Given the description of an element on the screen output the (x, y) to click on. 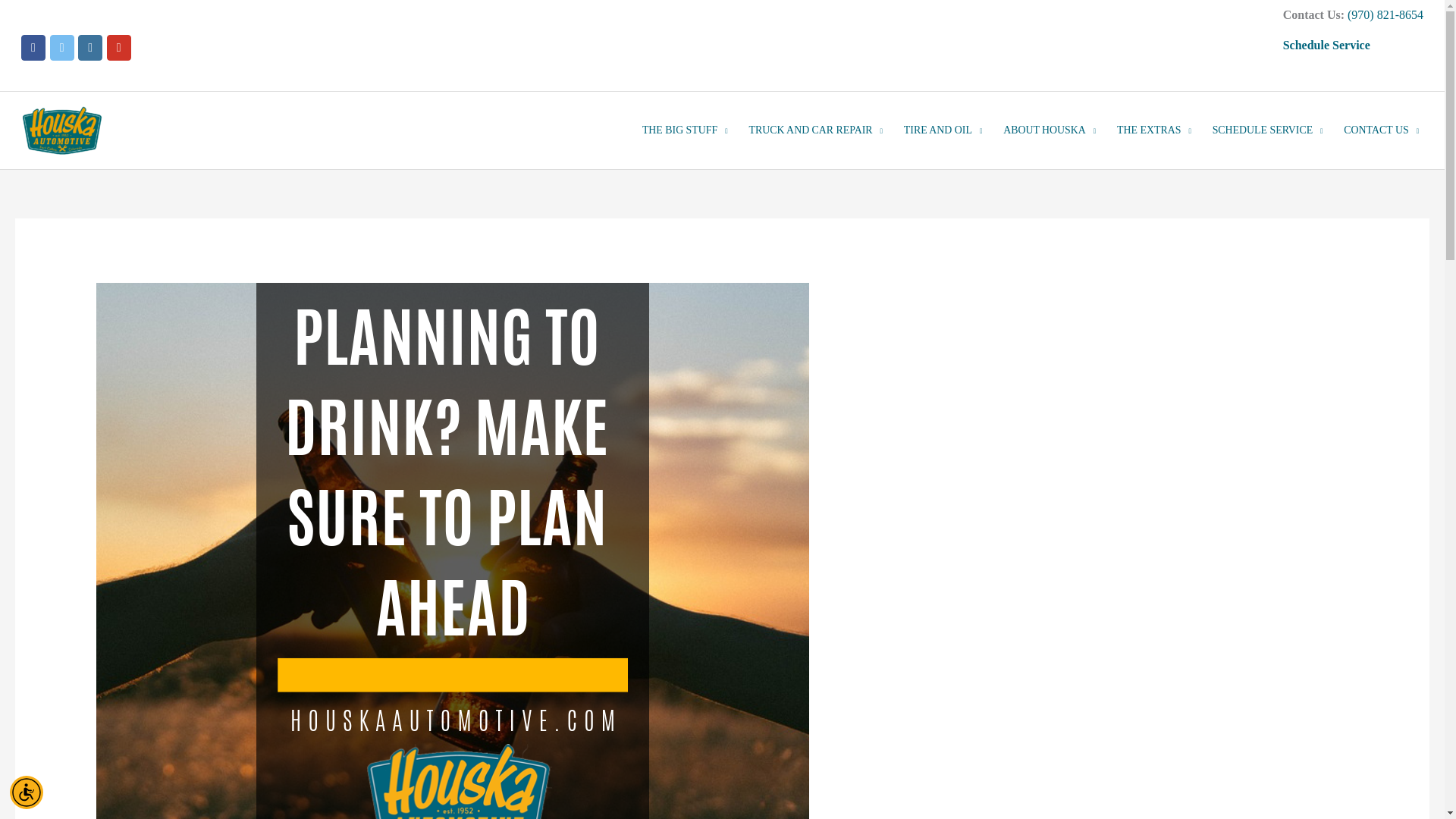
Schedule Service (1326, 44)
Accessibility Menu (26, 792)
Houska Automotive on  (146, 47)
ABOUT HOUSKA (1049, 129)
Houska Automotive on Youtube (118, 47)
Houska Automotive on Instagram (89, 47)
Houska Automotive on Facebook (33, 47)
TRUCK AND CAR REPAIR (815, 129)
Houska Automotive on X Twitter (61, 47)
THE BIG STUFF (684, 129)
TIRE AND OIL (942, 129)
